Given the description of an element on the screen output the (x, y) to click on. 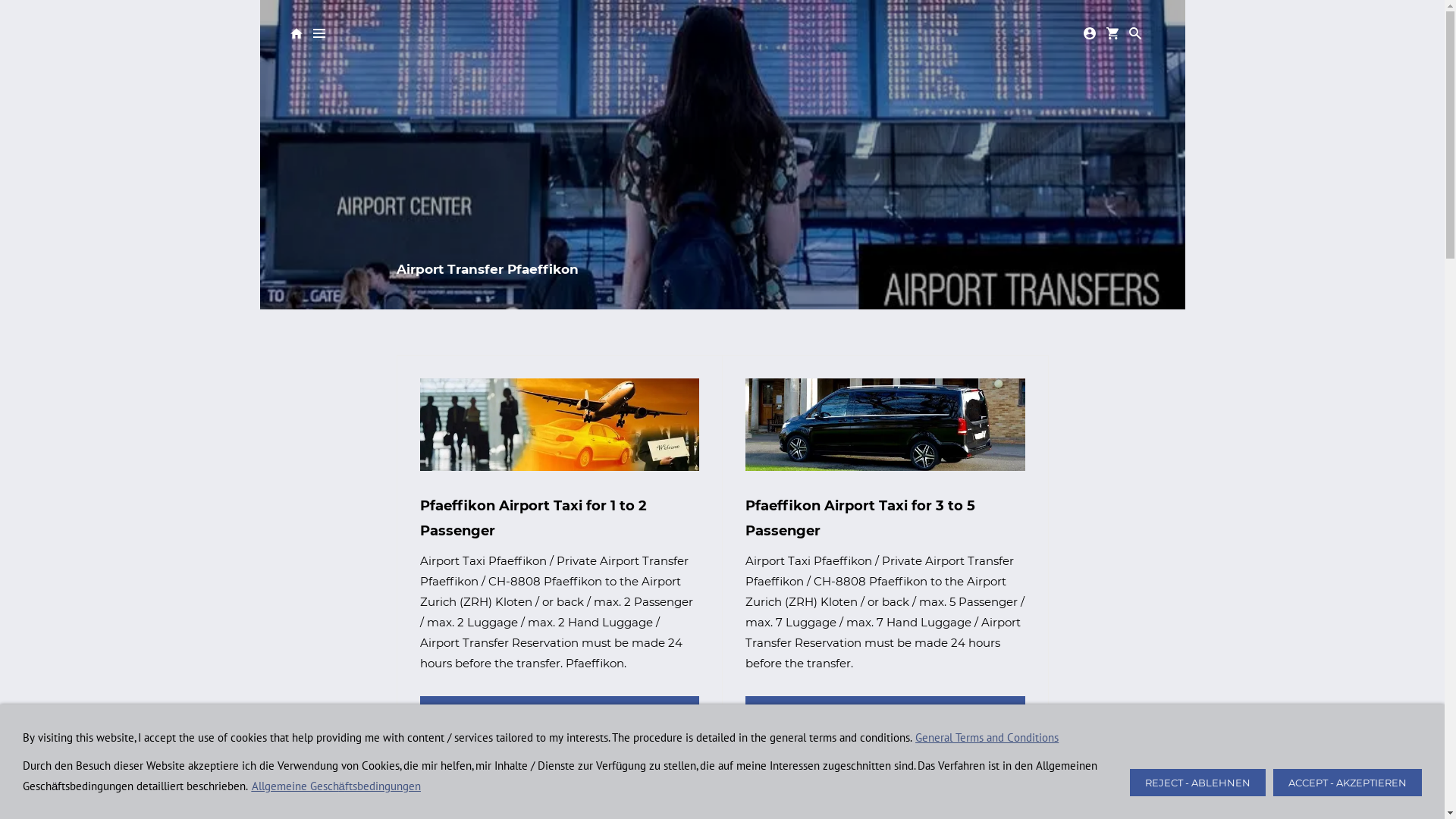
Pfaeffikon Airport Taxi for 1 to 2 Passenger Element type: text (559, 517)
REJECT - ABLEHNEN Element type: text (1197, 782)
General Terms and Conditions Element type: text (986, 737)
AIRPORT TAXI ONLINE BOOKING Element type: text (559, 709)
AIRPORT TAXI ONLINE BOOKING Element type: text (885, 709)
ACCEPT - AKZEPTIEREN Element type: text (1347, 782)
Pfaeffikon Airport Taxi for 3 to 5 Passenger Element type: text (885, 517)
